Given the description of an element on the screen output the (x, y) to click on. 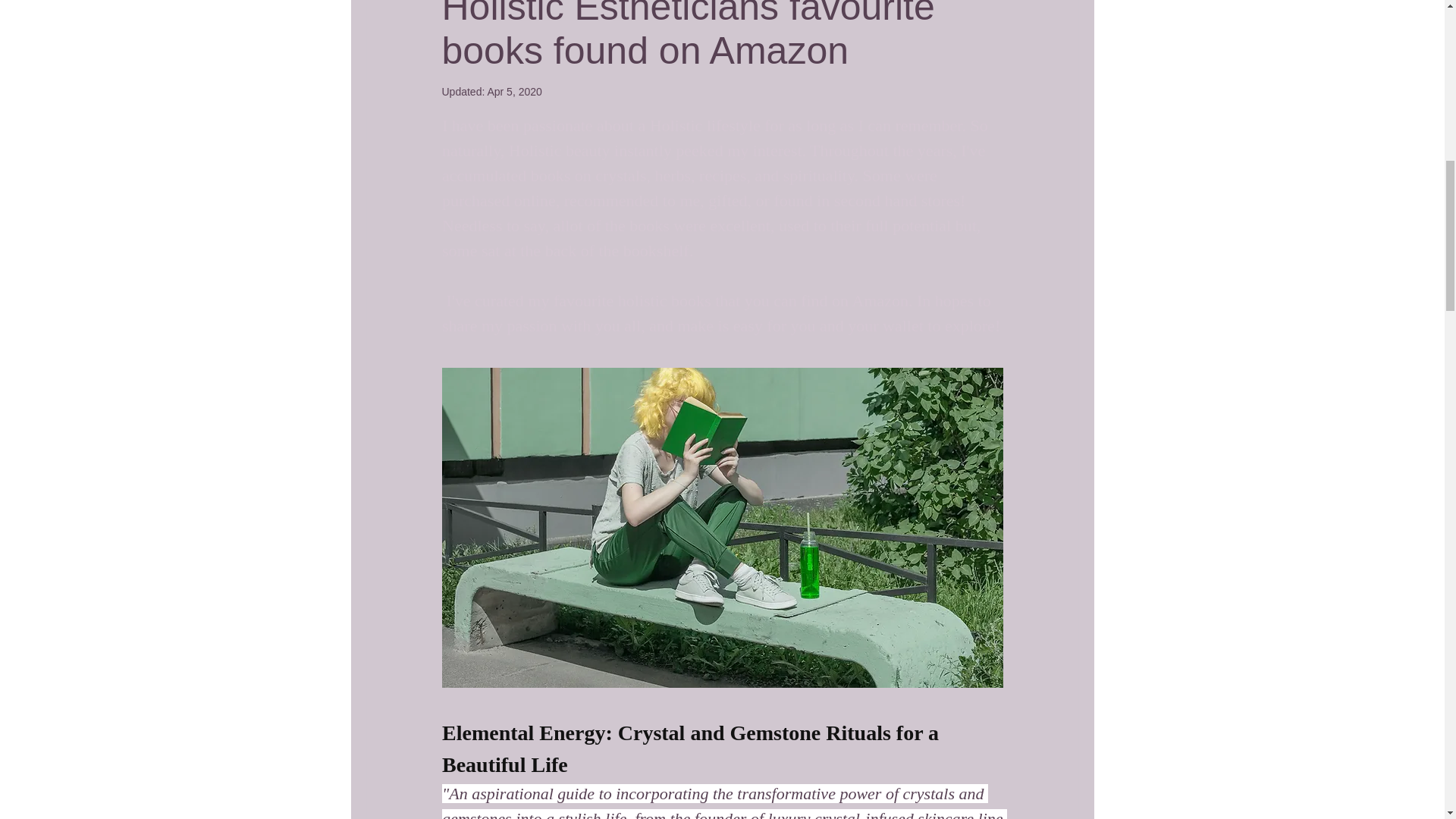
Apr 5, 2020 (513, 91)
